Given the description of an element on the screen output the (x, y) to click on. 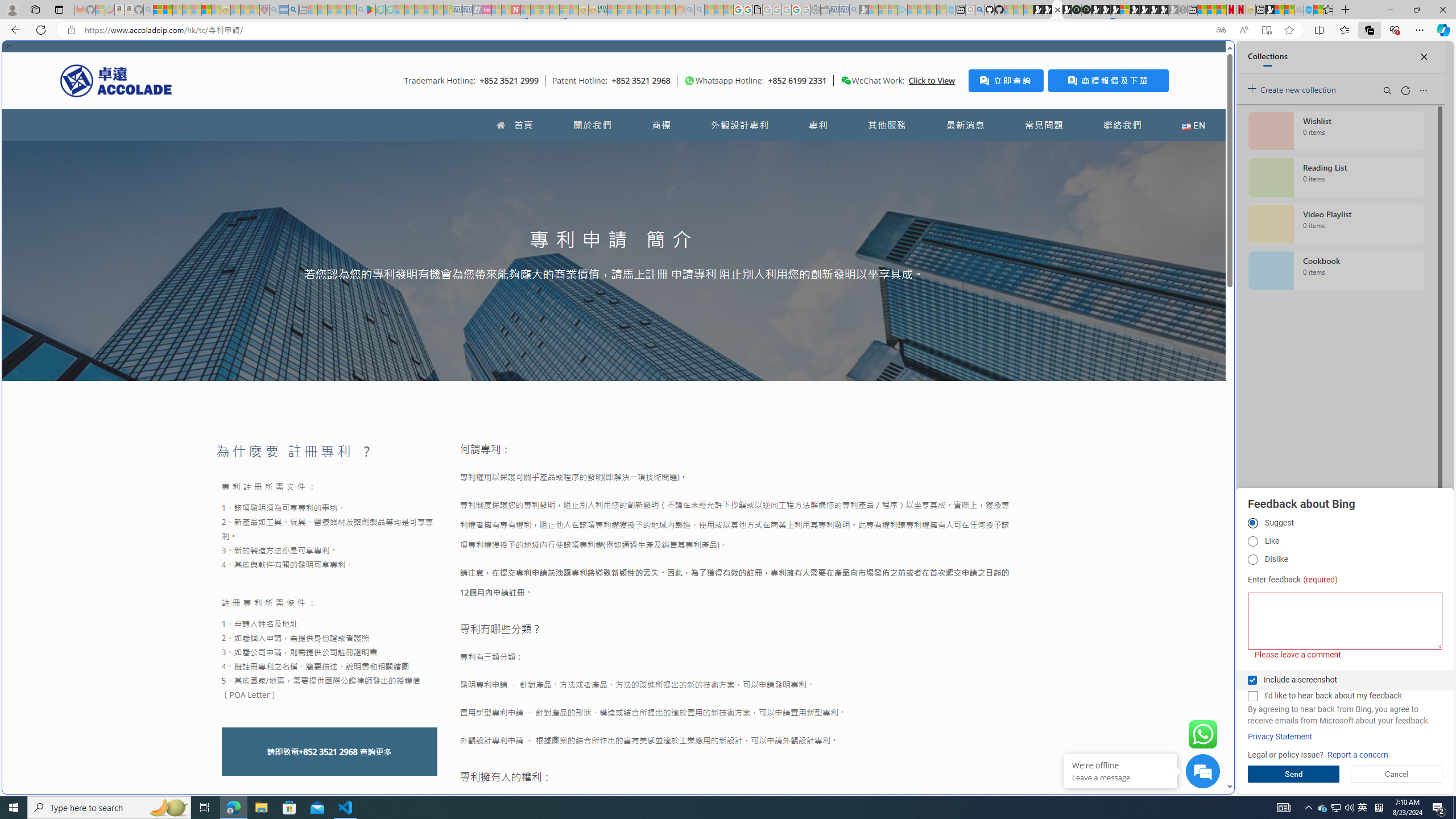
MSNBC - MSN - Sleeping (611, 9)
Earth has six continents not seven, radical new study claims (1288, 9)
utah sues federal government - Search (922, 389)
google_privacy_policy_zh-CN.pdf (1118, 683)
